Given the description of an element on the screen output the (x, y) to click on. 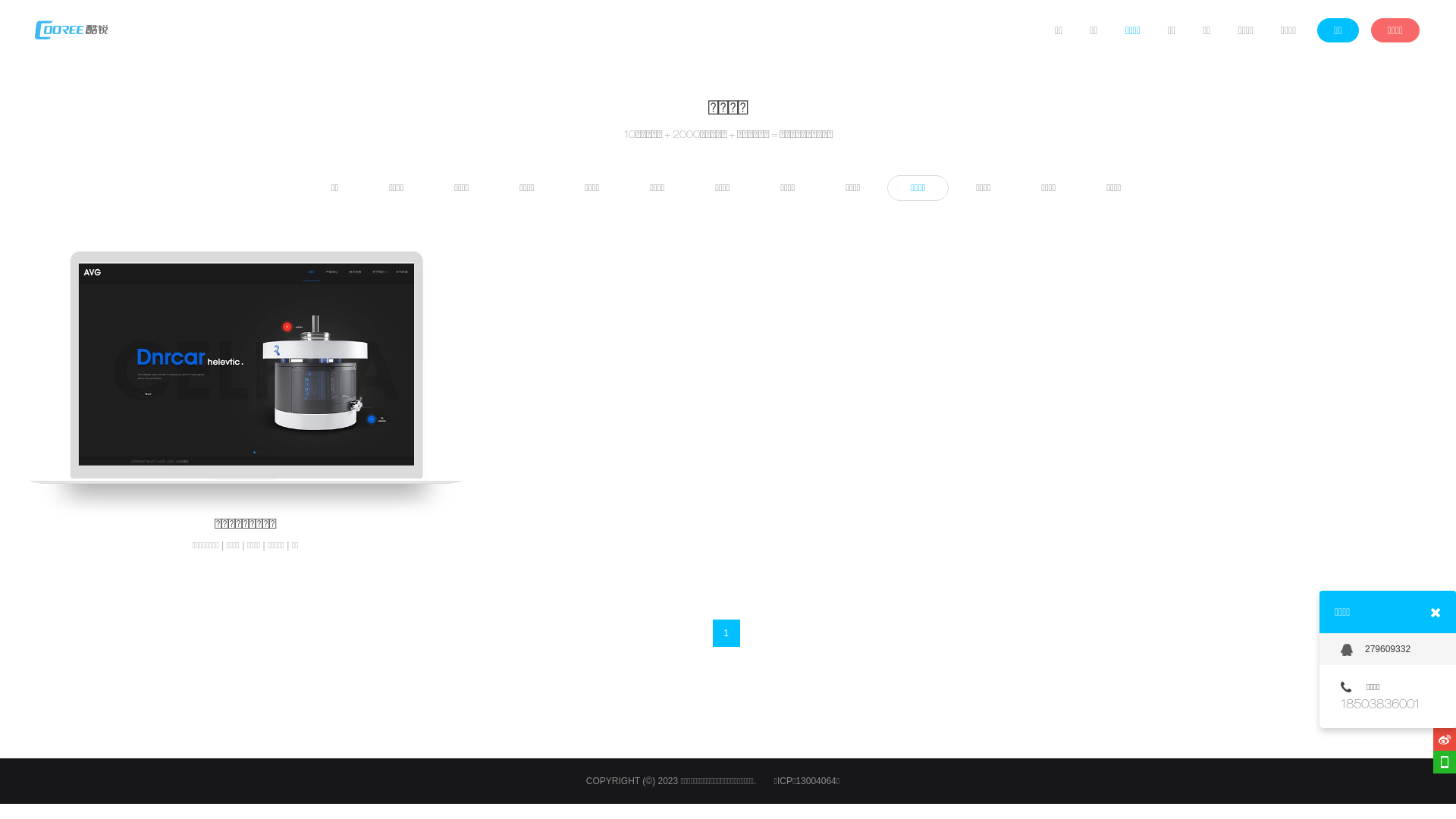
1 Element type: text (726, 632)
